Given the description of an element on the screen output the (x, y) to click on. 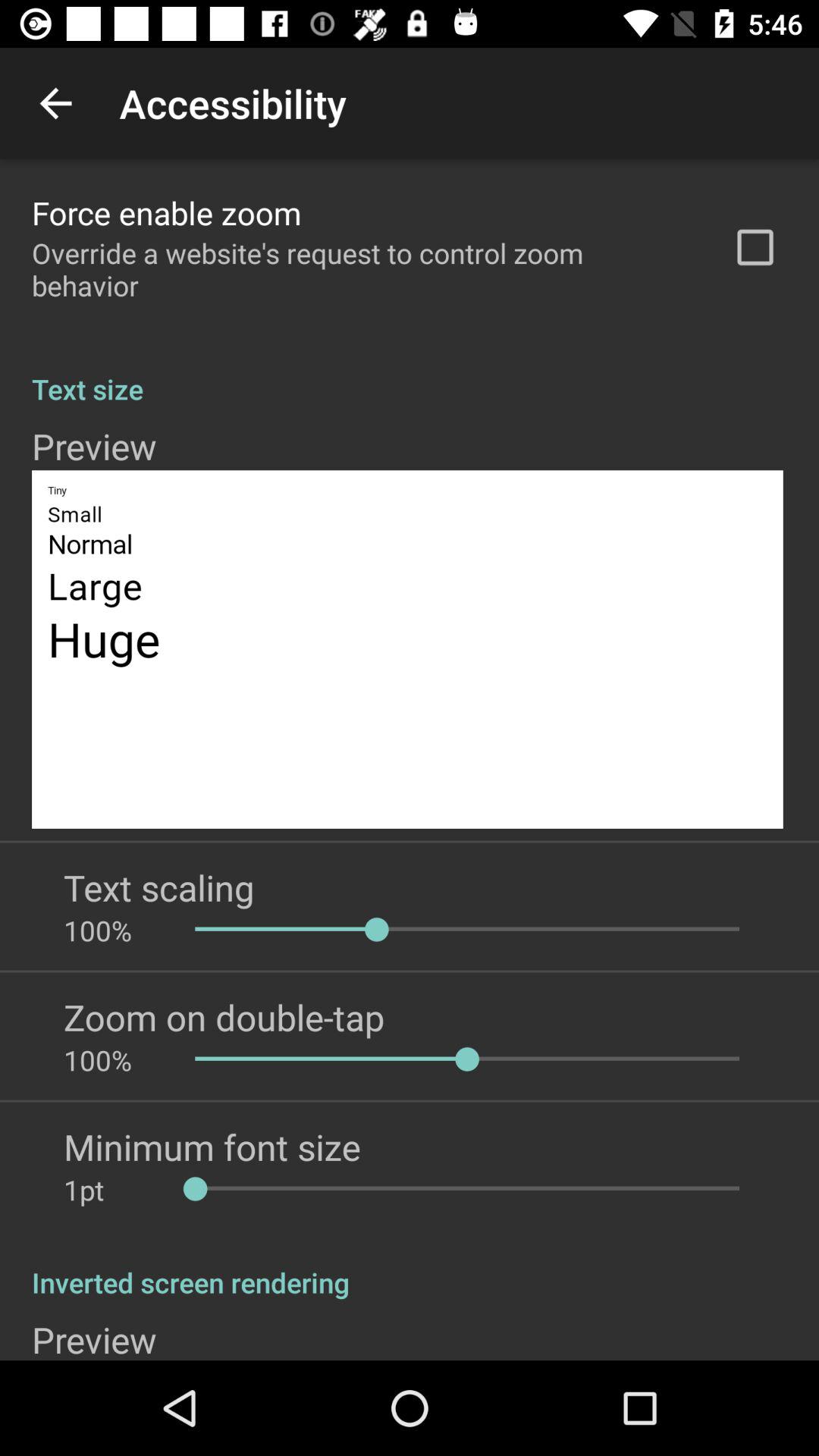
tap the minimum font size app (211, 1146)
